Given the description of an element on the screen output the (x, y) to click on. 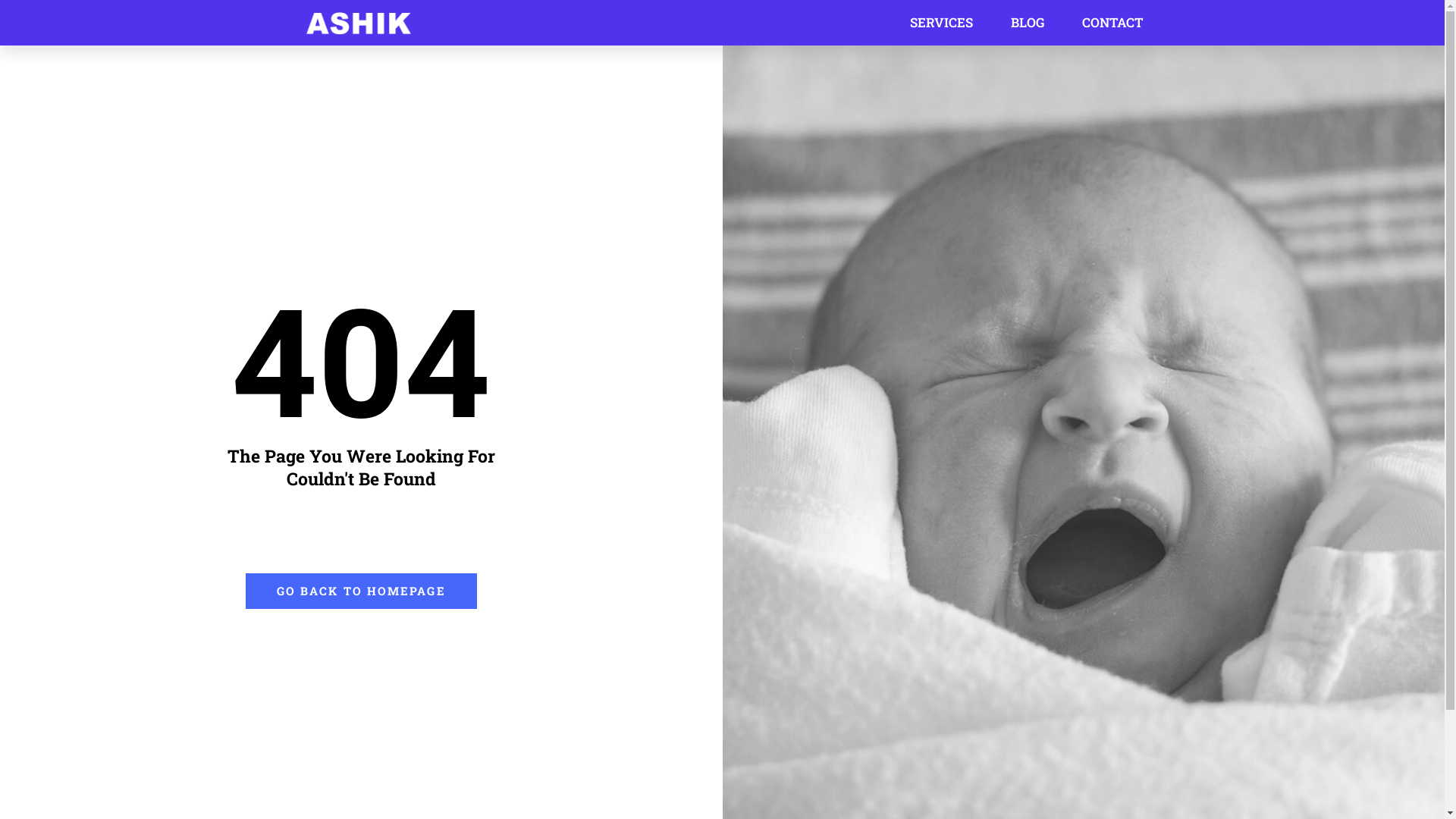
BLOG Element type: text (1026, 22)
CONTACT Element type: text (1111, 22)
GO BACK TO HOMEPAGE Element type: text (360, 590)
SERVICES Element type: text (941, 22)
